Given the description of an element on the screen output the (x, y) to click on. 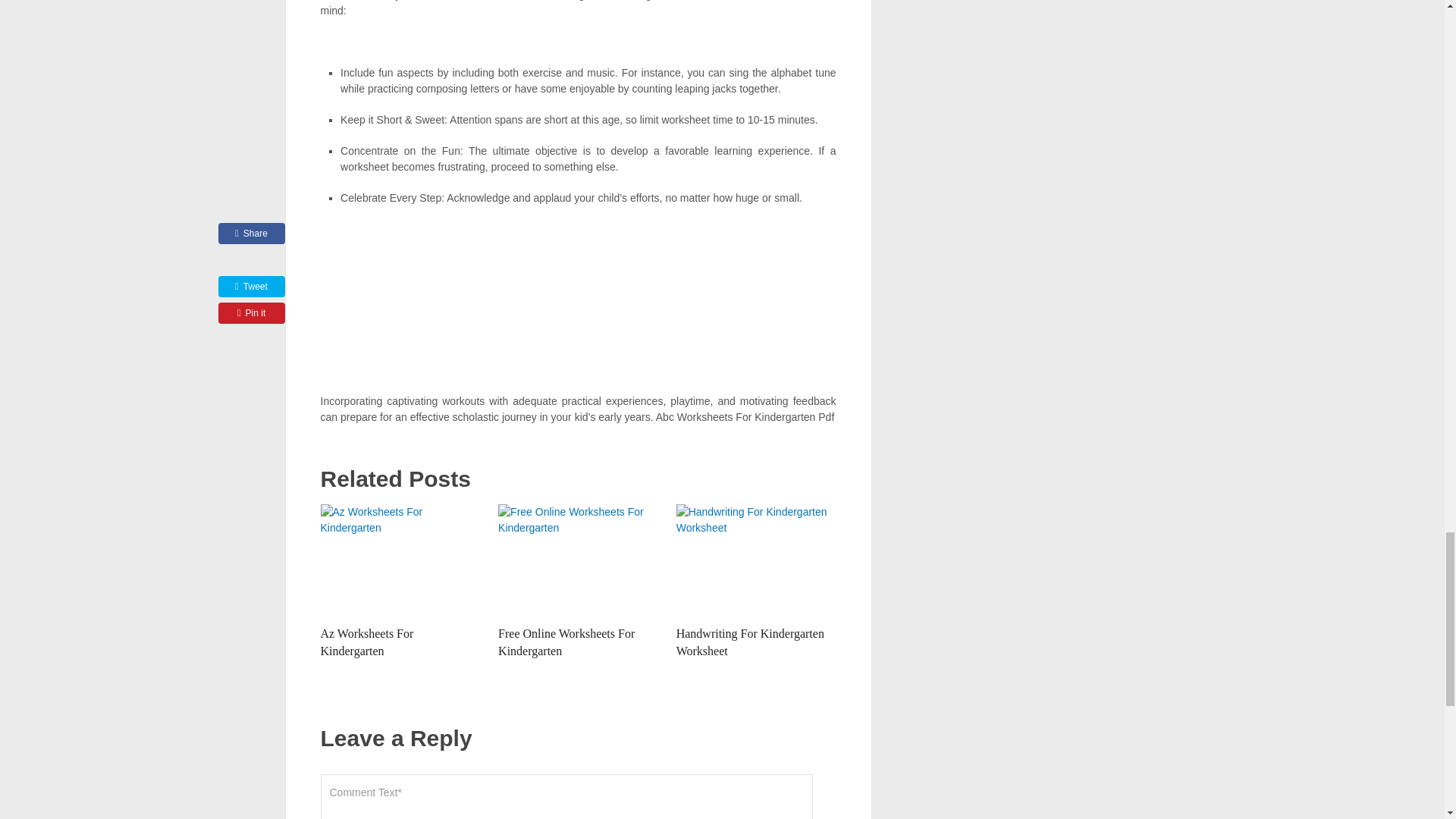
Az Worksheets For Kindergarten (366, 641)
Handwriting For Kindergarten Worksheet (750, 641)
Az Worksheets For Kindergarten (400, 561)
Az Worksheets For Kindergarten (366, 641)
Free Online Worksheets For Kindergarten (565, 641)
Free Online Worksheets For Kindergarten (577, 561)
Handwriting For Kindergarten Worksheet (756, 561)
Free Online Worksheets For Kindergarten (565, 641)
